Given the description of an element on the screen output the (x, y) to click on. 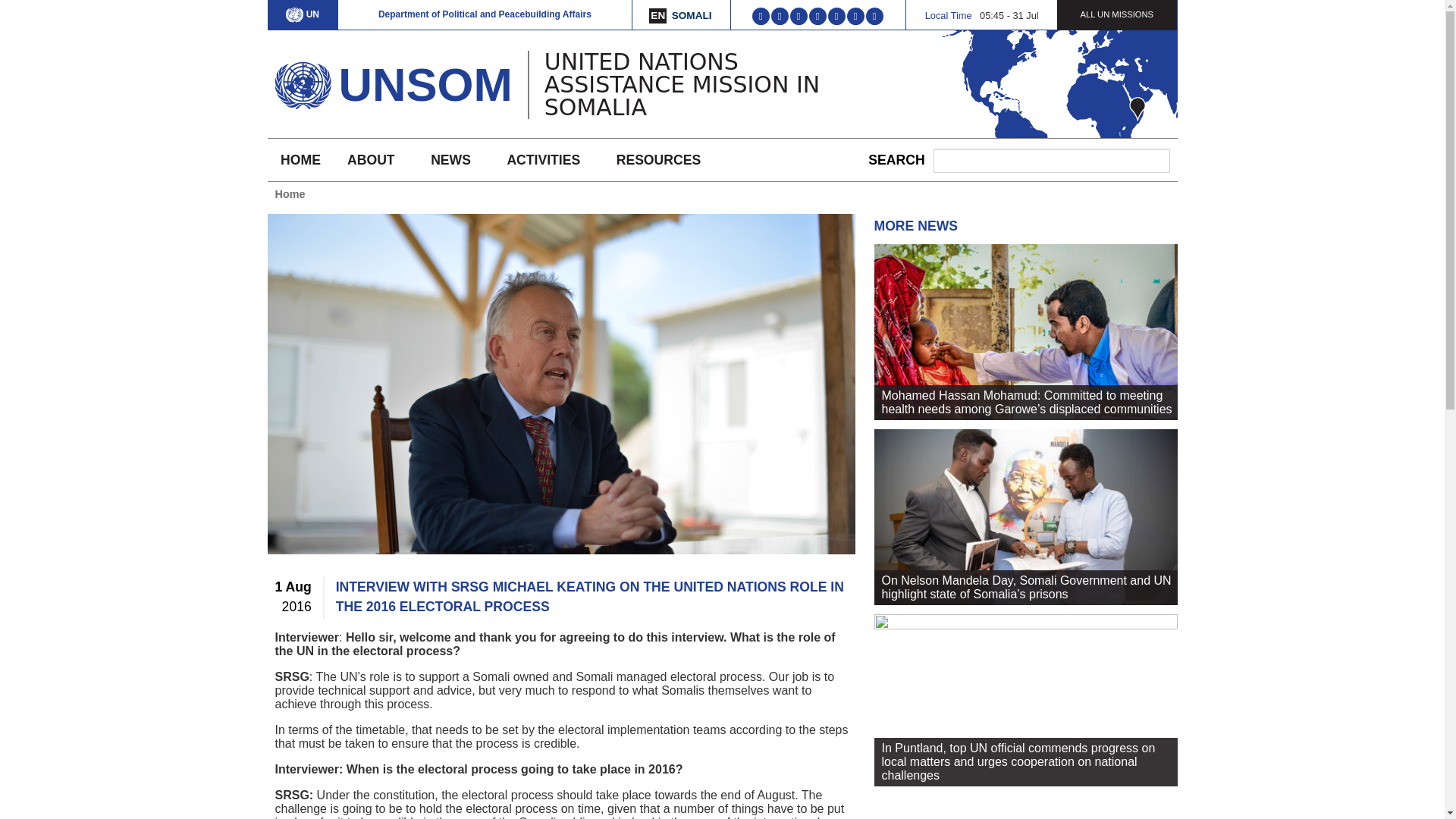
ALL UN MISSIONS (1116, 13)
Home (424, 84)
EN (657, 15)
UNSOM (424, 84)
UN (301, 14)
Department of Political and Peacebuilding Affairs (484, 14)
Home (301, 80)
HOME (299, 159)
SOMALI (691, 15)
Enter the terms you wish to search for. (1051, 160)
